Given the description of an element on the screen output the (x, y) to click on. 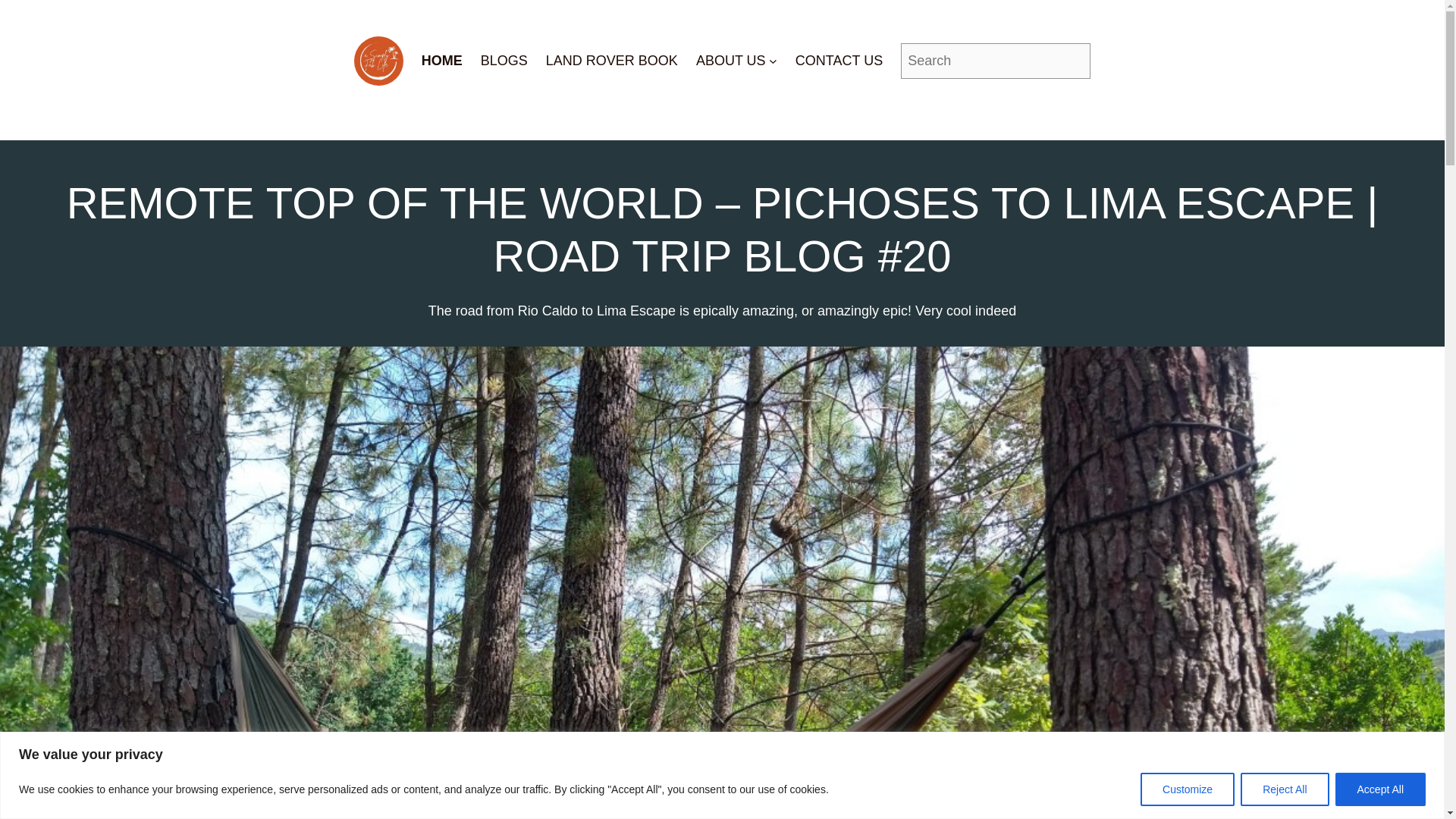
Customize (1187, 788)
ABOUT US (730, 60)
BLOGS (503, 60)
Accept All (1380, 788)
CONTACT US (838, 60)
Reject All (1283, 788)
HOME (442, 60)
LAND ROVER BOOK (612, 60)
